Given the description of an element on the screen output the (x, y) to click on. 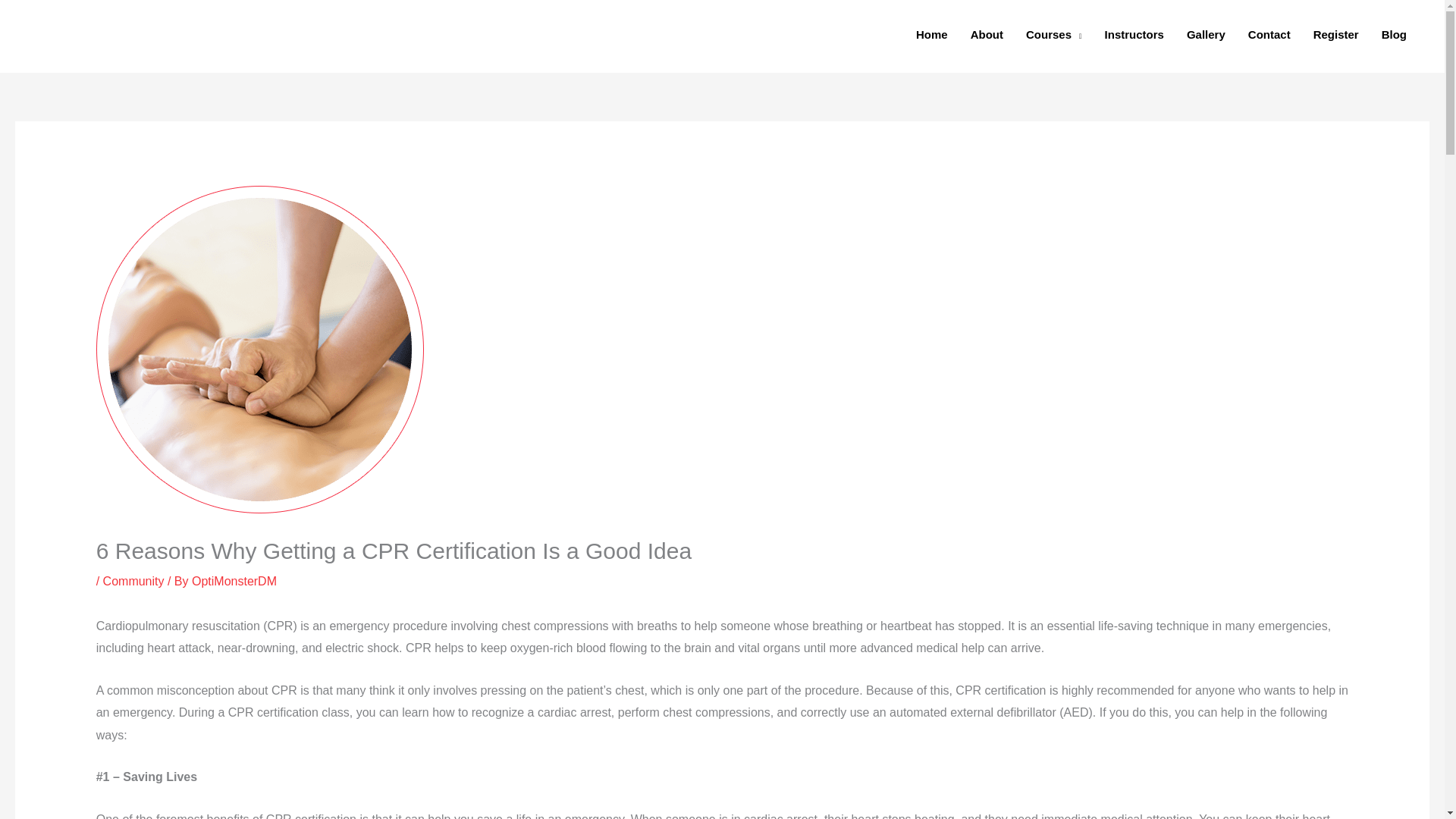
OptiMonsterDM (234, 581)
Community (133, 581)
About (986, 34)
Blog (1394, 34)
Home (931, 34)
Contact (1268, 34)
View all posts by OptiMonsterDM (234, 581)
Courses (1053, 34)
Instructors (1133, 34)
Gallery (1205, 34)
Register (1335, 34)
